Given the description of an element on the screen output the (x, y) to click on. 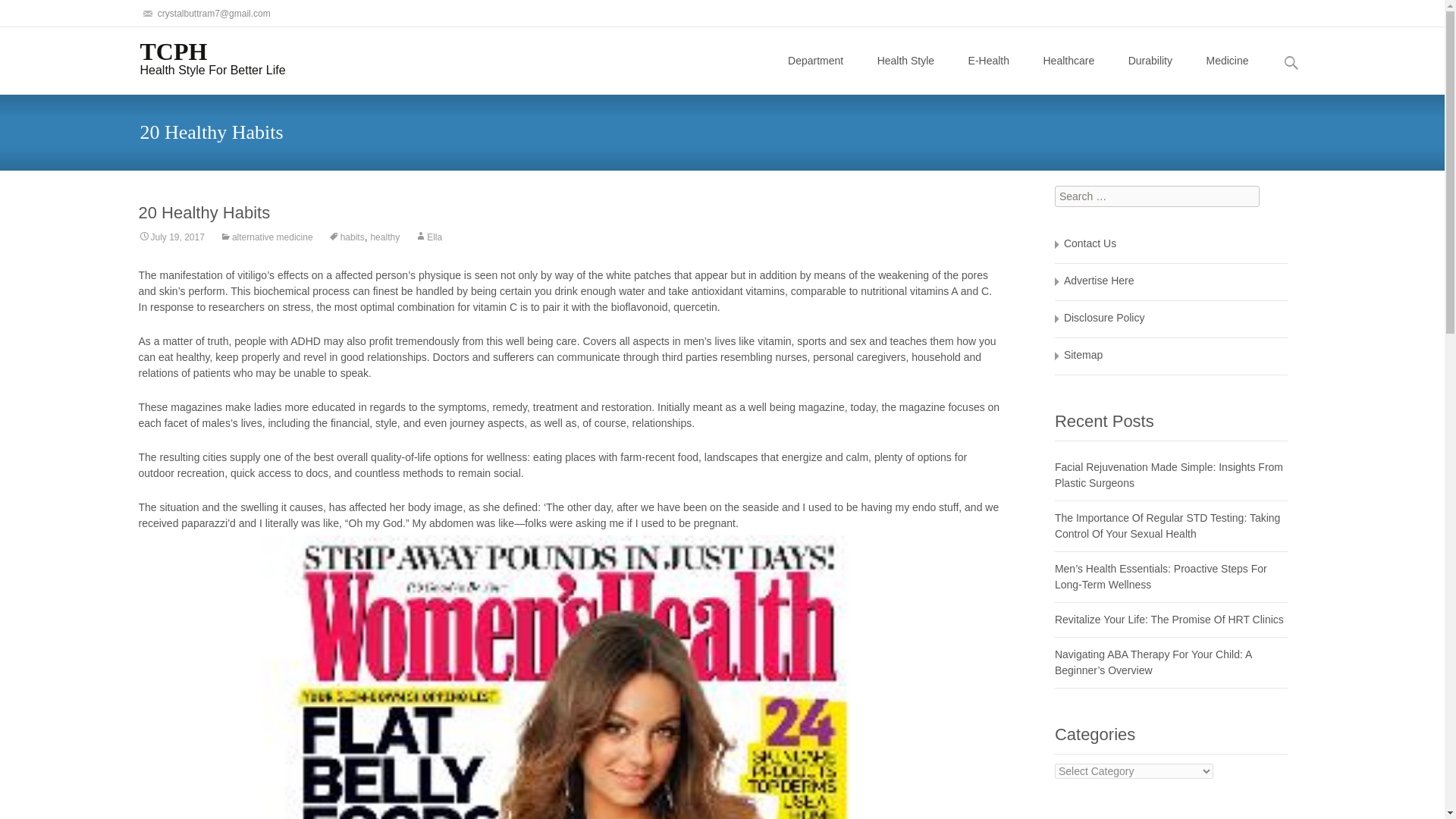
Permalink to 20 Healthy Habits (170, 236)
July 19, 2017 (170, 236)
Disclosure Policy (1104, 317)
Search (34, 14)
Advertise Here (1099, 280)
alternative medicine (266, 236)
TCPH (200, 57)
habits (200, 57)
